Given the description of an element on the screen output the (x, y) to click on. 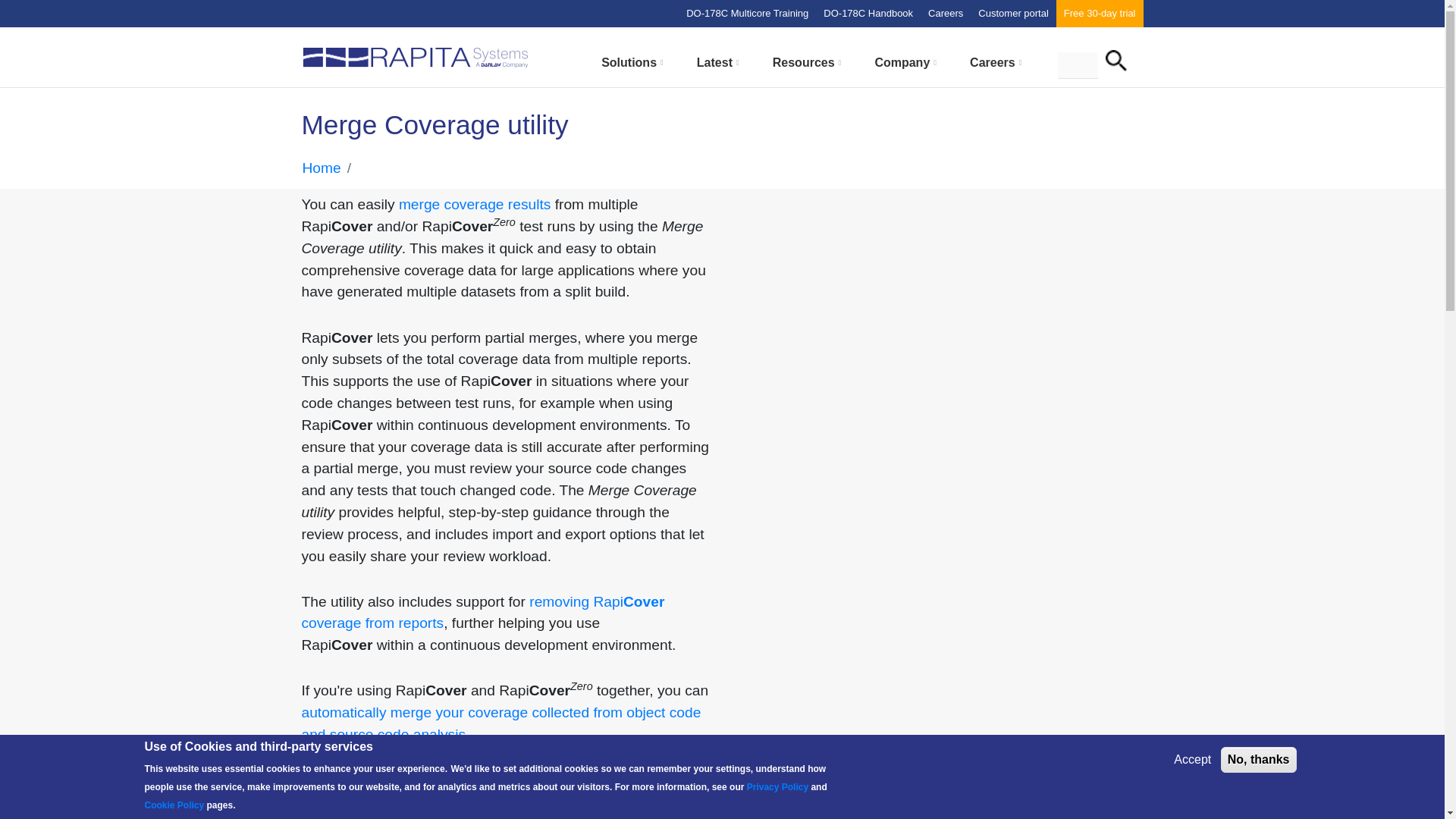
Careers (945, 13)
Customer portal (1013, 13)
Enter the terms you wish to search for. (1077, 64)
Solutions (632, 67)
DO-178C Multicore Training (746, 13)
Free 30-day trial (1099, 13)
Solutions (628, 62)
DO-178C Handbook (867, 13)
